Given the description of an element on the screen output the (x, y) to click on. 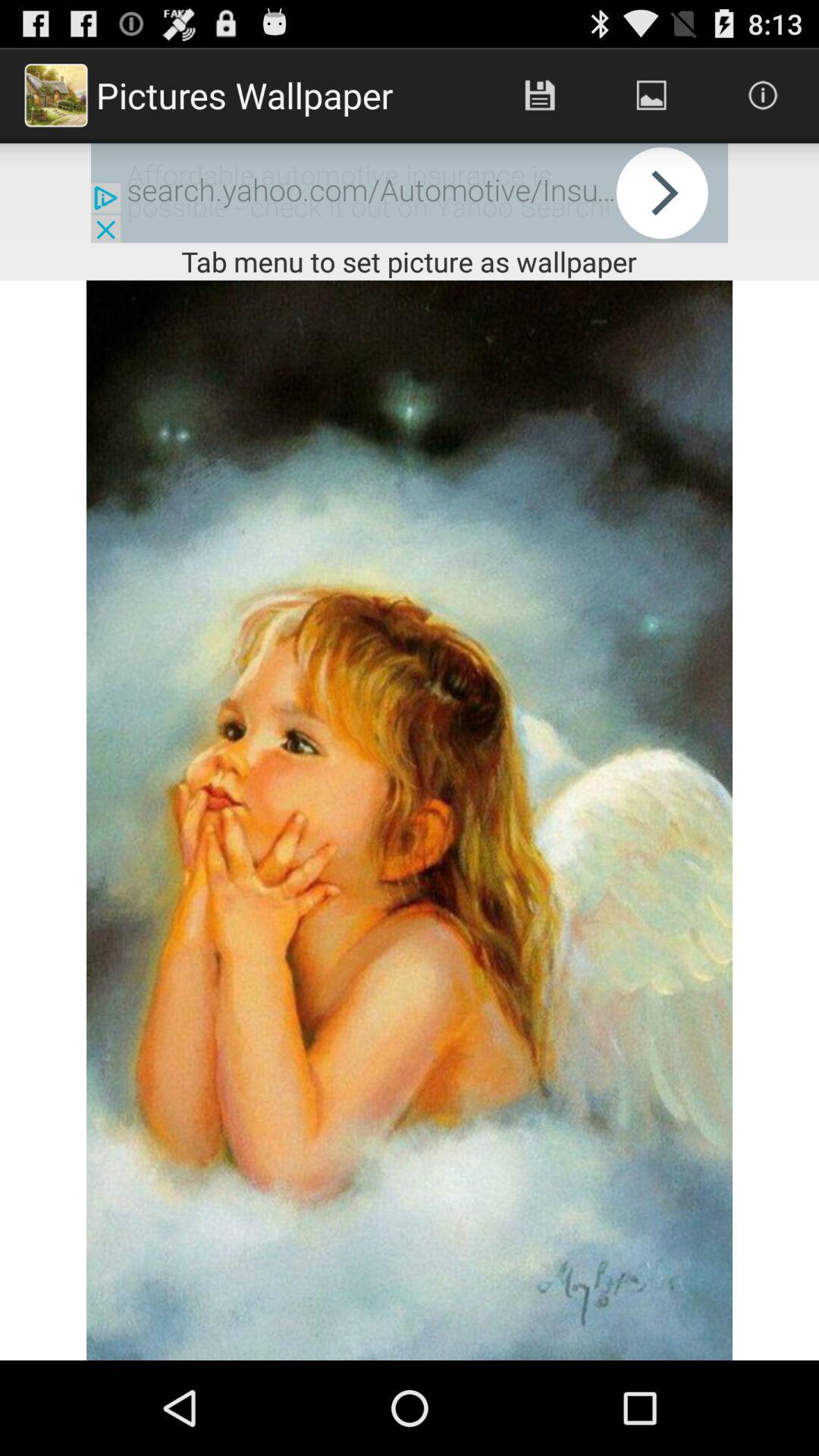
advertisement website (409, 192)
